Given the description of an element on the screen output the (x, y) to click on. 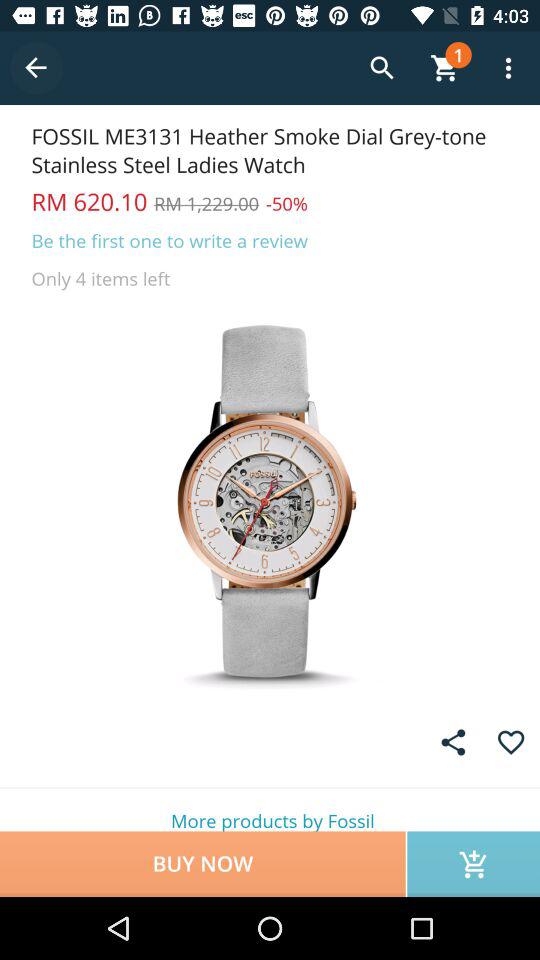
turn on item to the right of buy now item (473, 863)
